Given the description of an element on the screen output the (x, y) to click on. 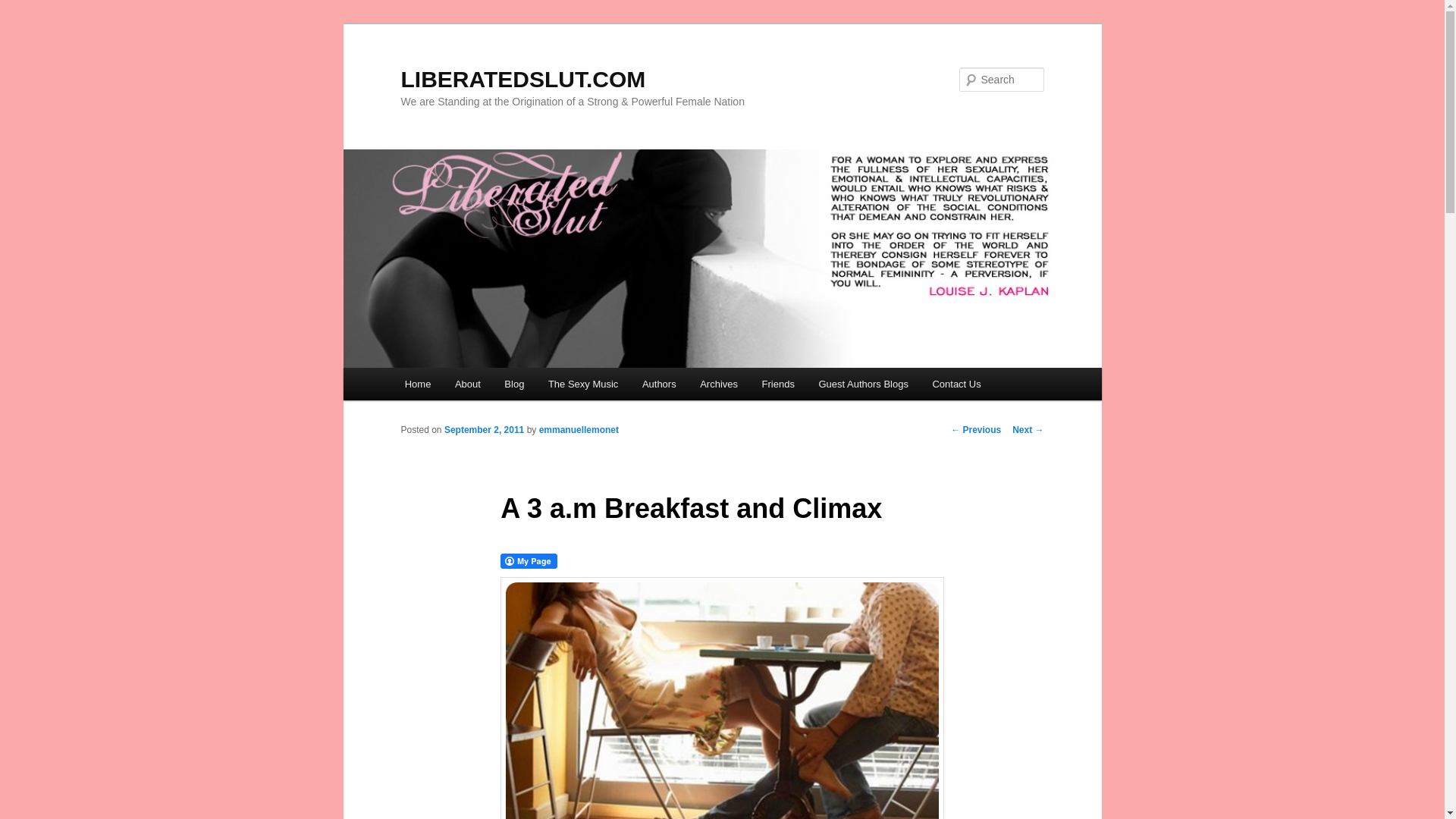
emmanuellemonet (578, 429)
LIBERATEDSLUT.COM (522, 78)
The Sexy Music (582, 383)
Guest Authors Blogs (863, 383)
diner of 54th3 (721, 698)
Home (417, 383)
Contact Us (956, 383)
About (467, 383)
Archives (718, 383)
2:49 pm (484, 429)
